Given the description of an element on the screen output the (x, y) to click on. 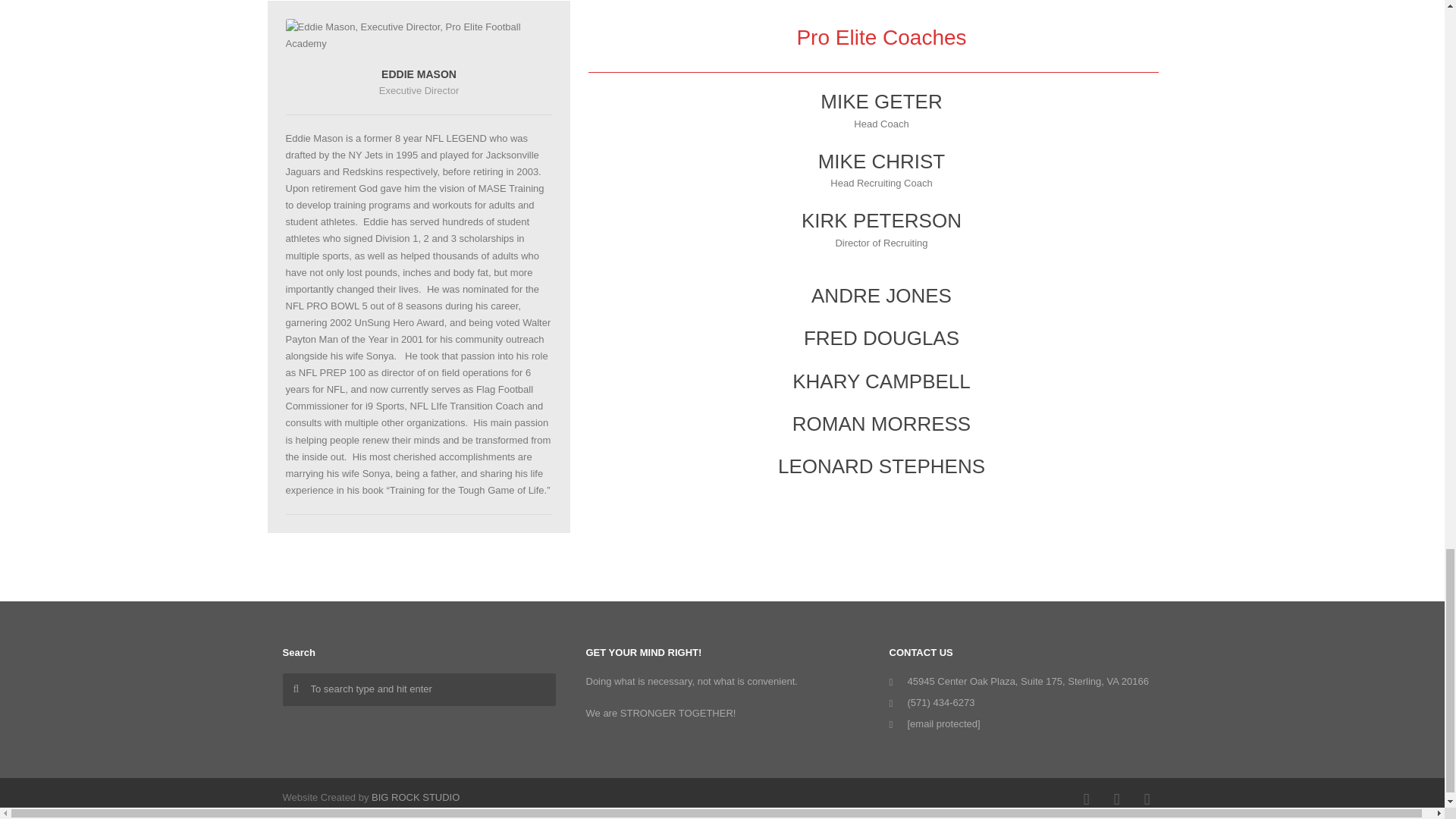
To search type and hit enter (418, 689)
YouTube (1146, 798)
BIG ROCK STUDIO (415, 797)
Instagram (1115, 798)
Facebook (1085, 798)
